Given the description of an element on the screen output the (x, y) to click on. 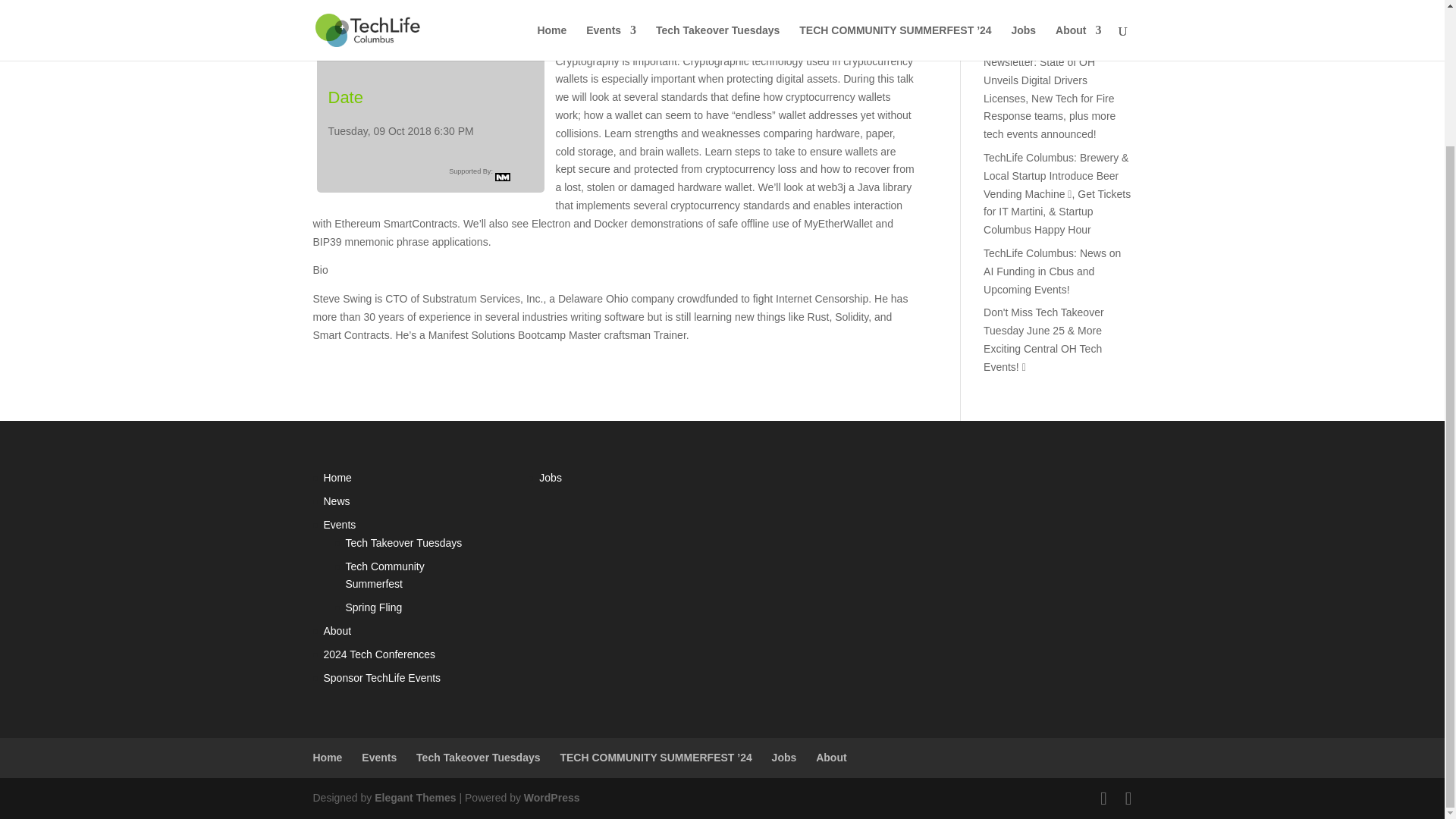
News (336, 500)
Home (336, 477)
RSVP On Meetup.Com (429, 47)
Premium WordPress Themes (414, 797)
